Given the description of an element on the screen output the (x, y) to click on. 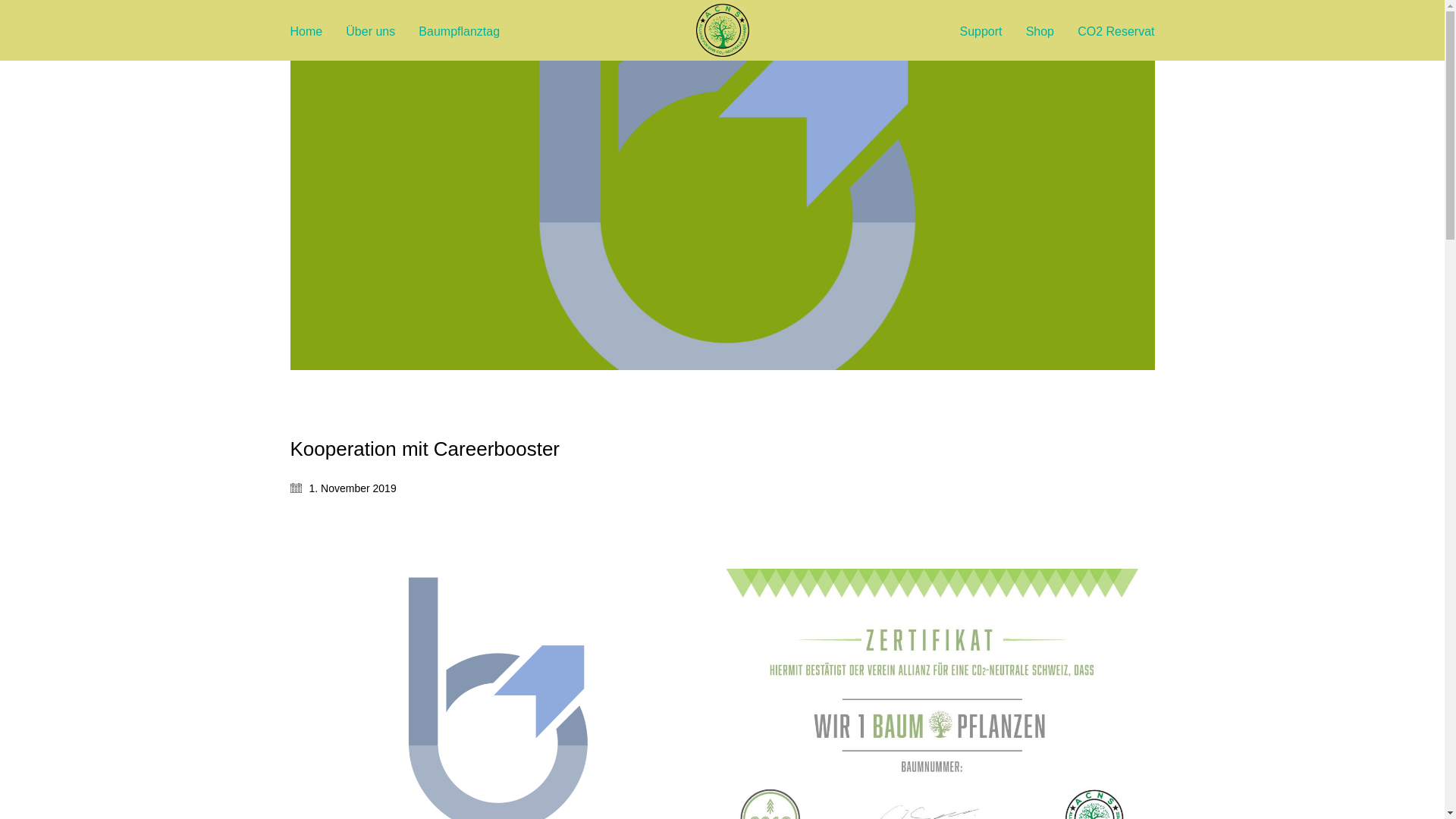
Home Element type: text (305, 31)
Support Element type: text (980, 31)
CO2 Reservat Element type: text (1115, 31)
Baumpflanztag Element type: text (458, 31)
Shop Element type: text (1040, 31)
